Given the description of an element on the screen output the (x, y) to click on. 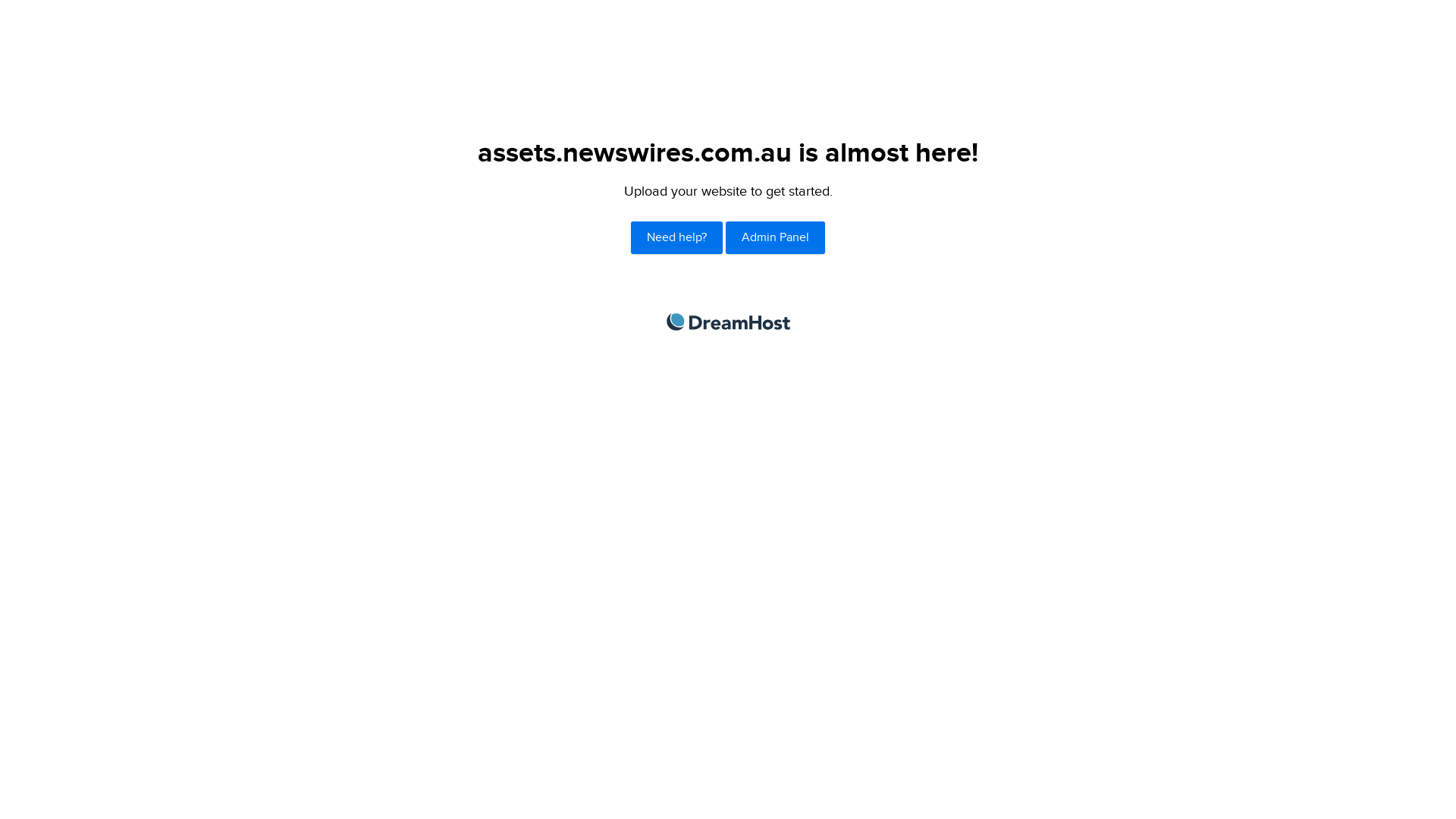
DreamHost Element type: text (727, 320)
Admin Panel Element type: text (775, 237)
Need help? Element type: text (676, 237)
